Given the description of an element on the screen output the (x, y) to click on. 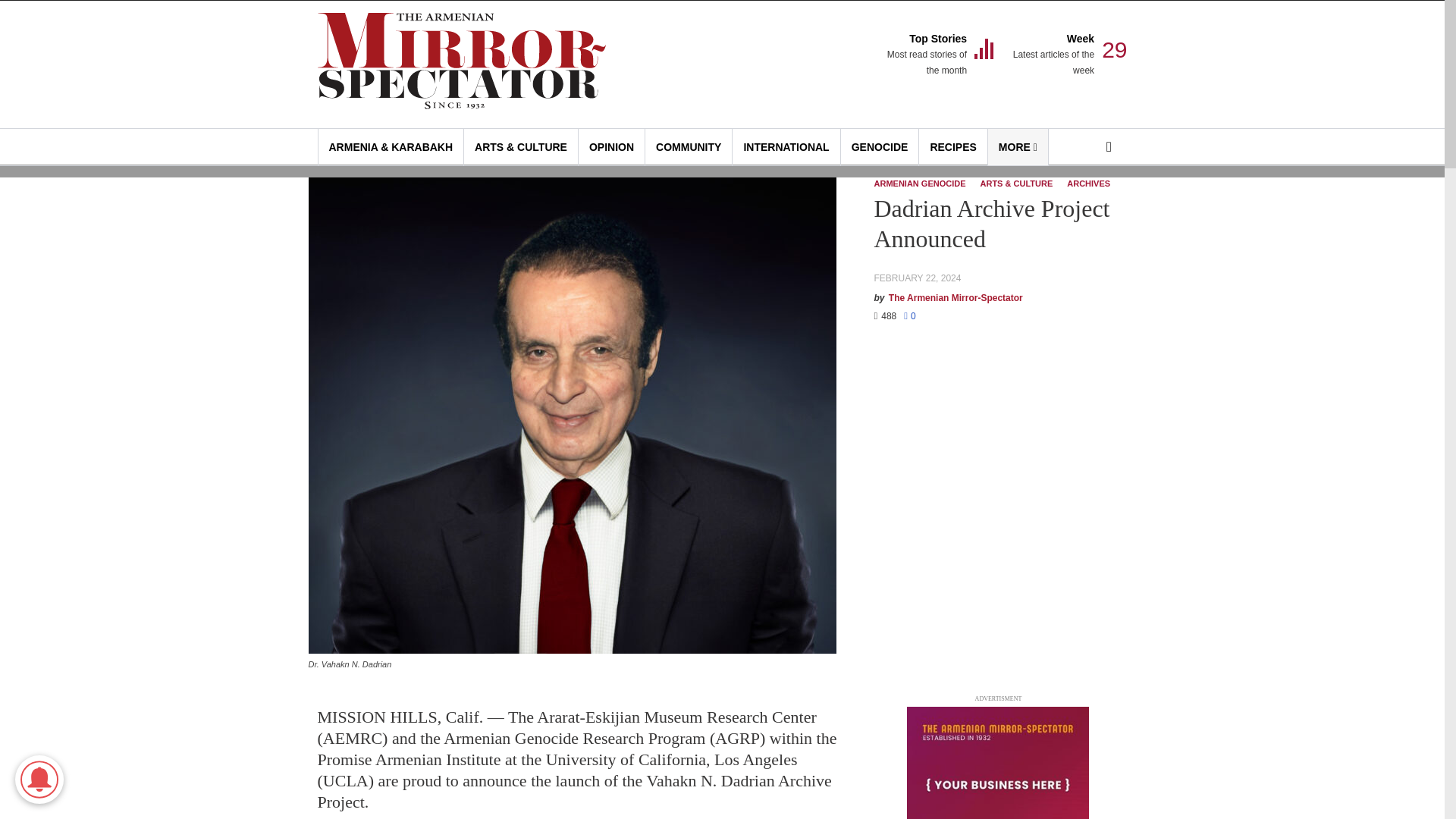
OPINION (611, 146)
INTERNATIONAL (786, 146)
MORE (924, 54)
GENOCIDE (1018, 146)
COMMUNITY (879, 146)
RECIPES (688, 146)
